Given the description of an element on the screen output the (x, y) to click on. 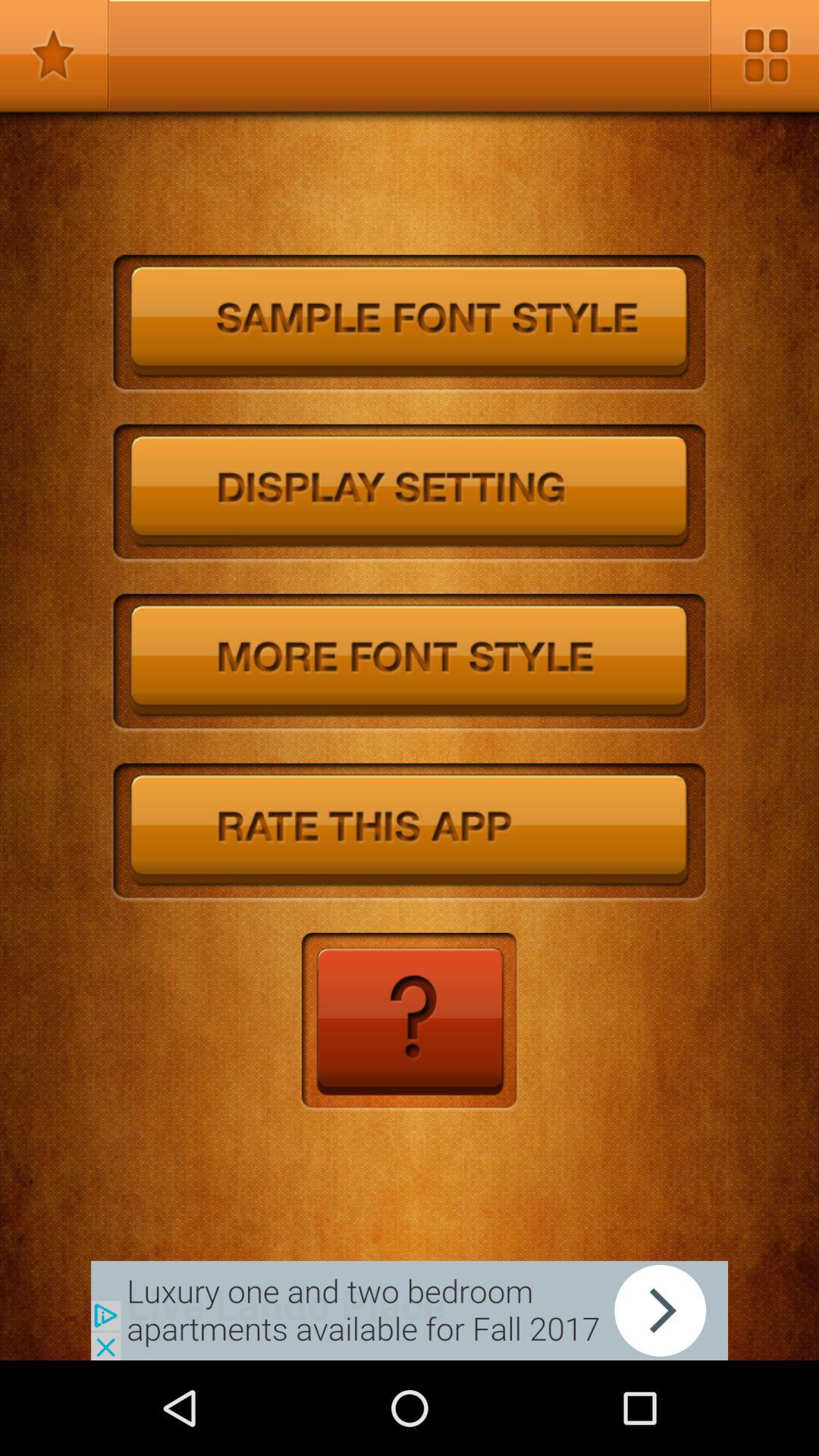
more option (764, 54)
